Given the description of an element on the screen output the (x, y) to click on. 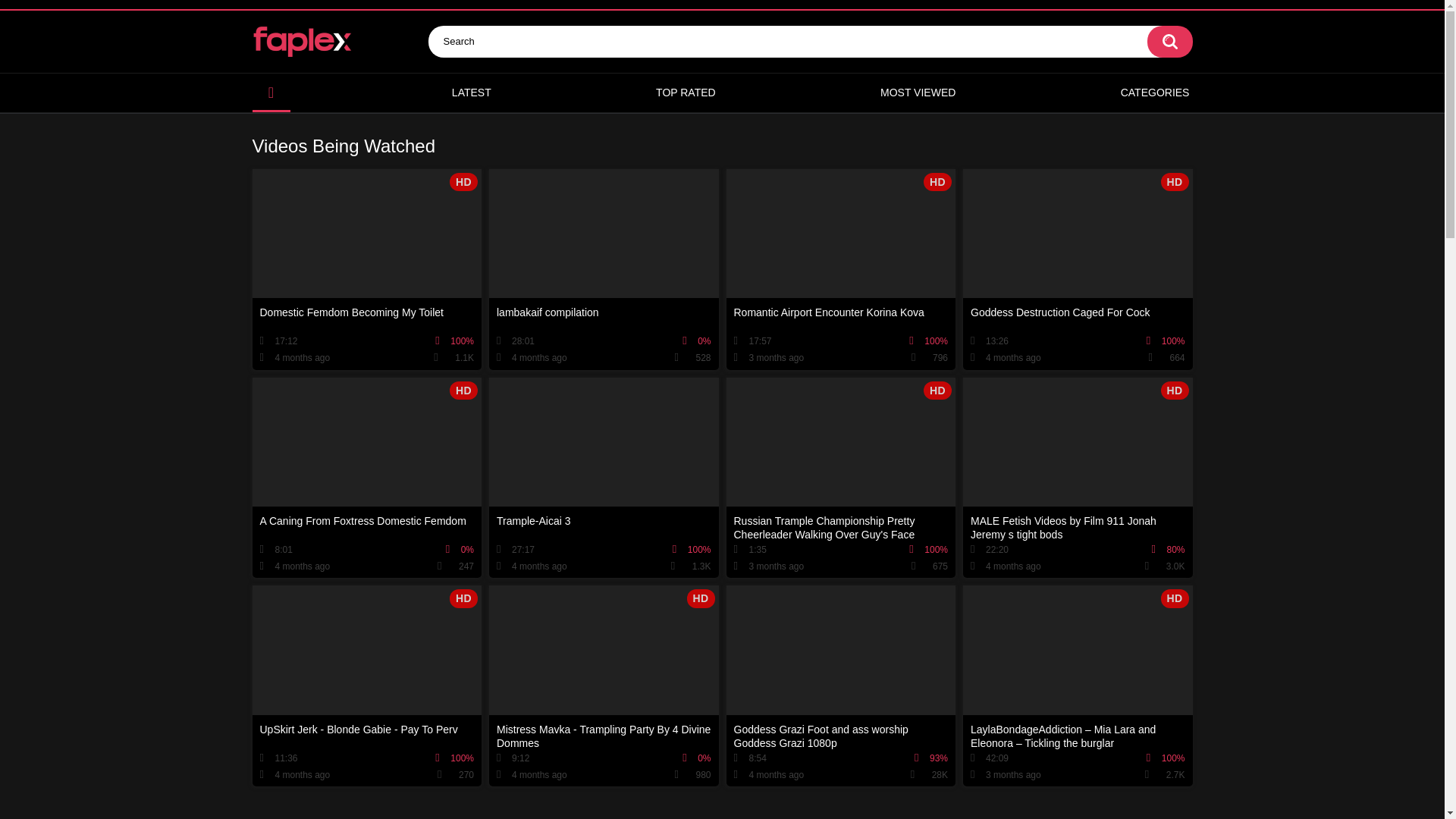
HOME (270, 92)
TOP RATED (685, 92)
Goddess Grazi Foot and ass worship Goddess Grazi 1080p (841, 685)
Goddess Destruction Caged For Cock (1077, 269)
Domestic Femdom Becoming My Toilet (366, 269)
Romantic Airport Encounter Korina Kova (841, 269)
MOST VIEWED (917, 92)
lambakaif compilation (604, 269)
UpSkirt Jerk - Blonde Gabie - Pay To Perv (366, 685)
Trample-Aicai 3 (604, 477)
LATEST (471, 92)
CATEGORIES (1155, 92)
Mistress Mavka - Trampling Party By 4 Divine Dommes (604, 685)
MALE Fetish Videos by Film 911 Jonah Jeremy s tight bods (1077, 477)
